Given the description of an element on the screen output the (x, y) to click on. 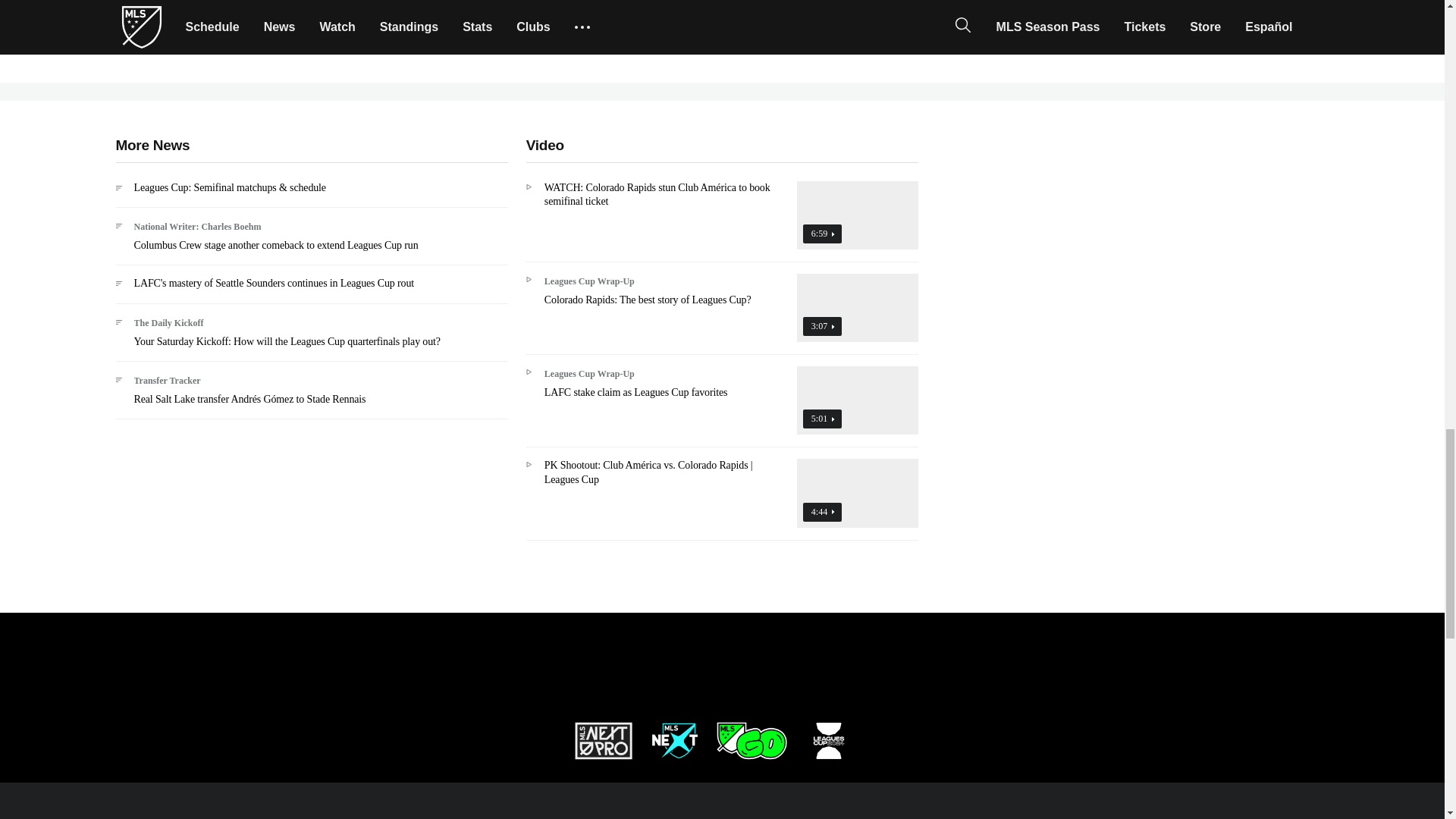
LAFC stake claim as Leagues Cup favorites (721, 406)
Colorado Rapids: The best story of Leagues Cup? (721, 313)
